Given the description of an element on the screen output the (x, y) to click on. 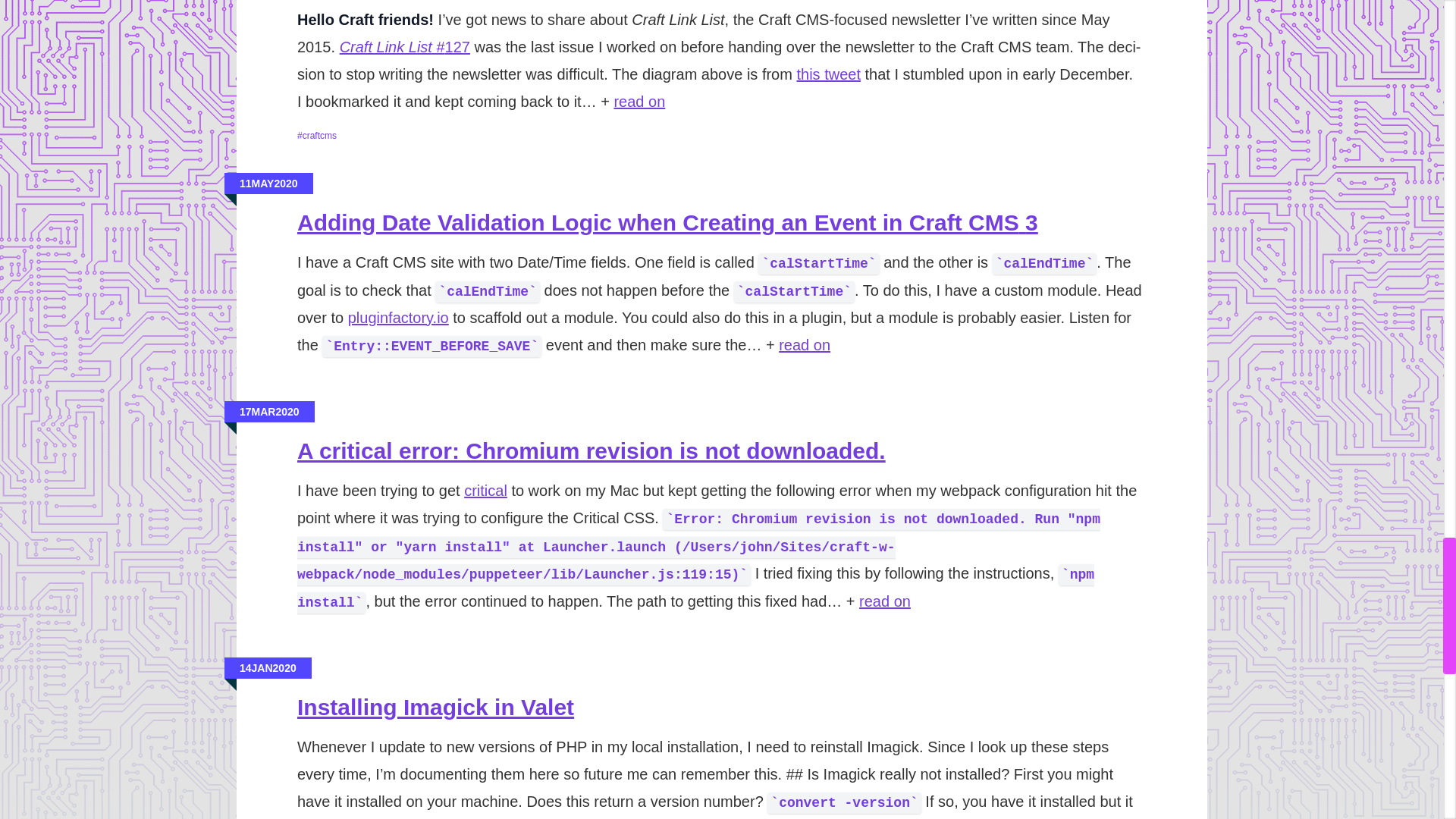
So long, Craft Link List, and hello again, Craft Link List (638, 101)
pluginfactory.io (397, 317)
read on (803, 344)
A critical error: Chromium revision is not downloaded. (591, 450)
this tweet (828, 74)
A critical error: Chromium revision is not downloaded. (885, 600)
read on (638, 101)
